Given the description of an element on the screen output the (x, y) to click on. 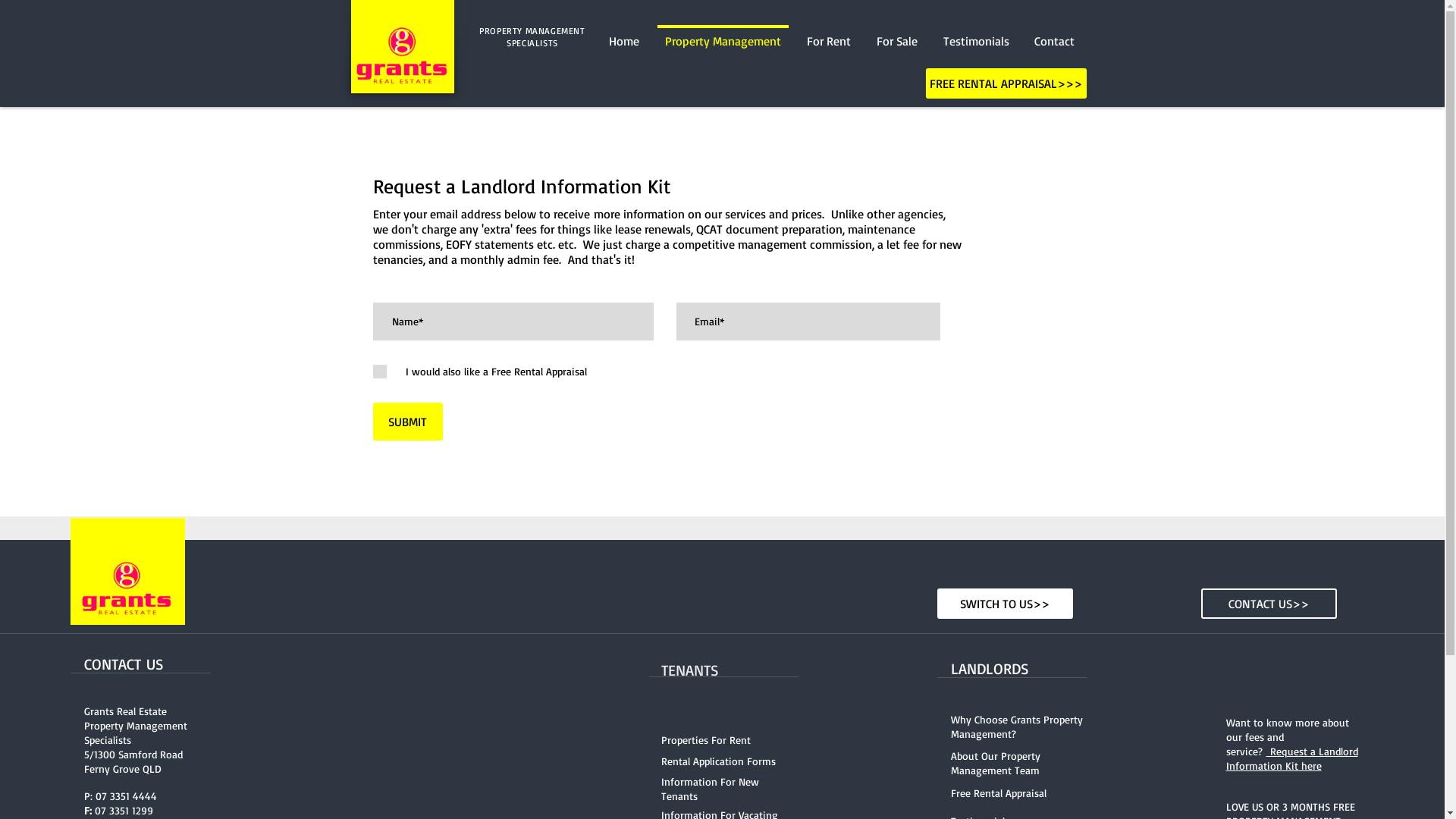
For Rent Element type: text (827, 34)
SUBMIT Element type: text (407, 421)
For Sale Element type: text (895, 34)
Free Rental Appraisal Element type: text (998, 793)
About Our Property Management Team Element type: text (995, 762)
Testimonials Element type: text (975, 34)
CONTACT US Element type: text (123, 663)
Properties For Rent Element type: text (705, 740)
SWITCH TO US>> Element type: text (1005, 603)
Contact Element type: text (1054, 34)
P: 07 3351 4444 Element type: text (119, 795)
Rental Application Forms Element type: text (718, 762)
Information For New Tenants Element type: text (710, 788)
CONTACT US>> Element type: text (1268, 603)
Why Choose Grants Property Management? Element type: text (1016, 727)
FREE RENTAL APPRAISAL>>> Element type: text (1005, 83)
Property Management Element type: text (722, 34)
Home Element type: text (624, 34)
